Given the description of an element on the screen output the (x, y) to click on. 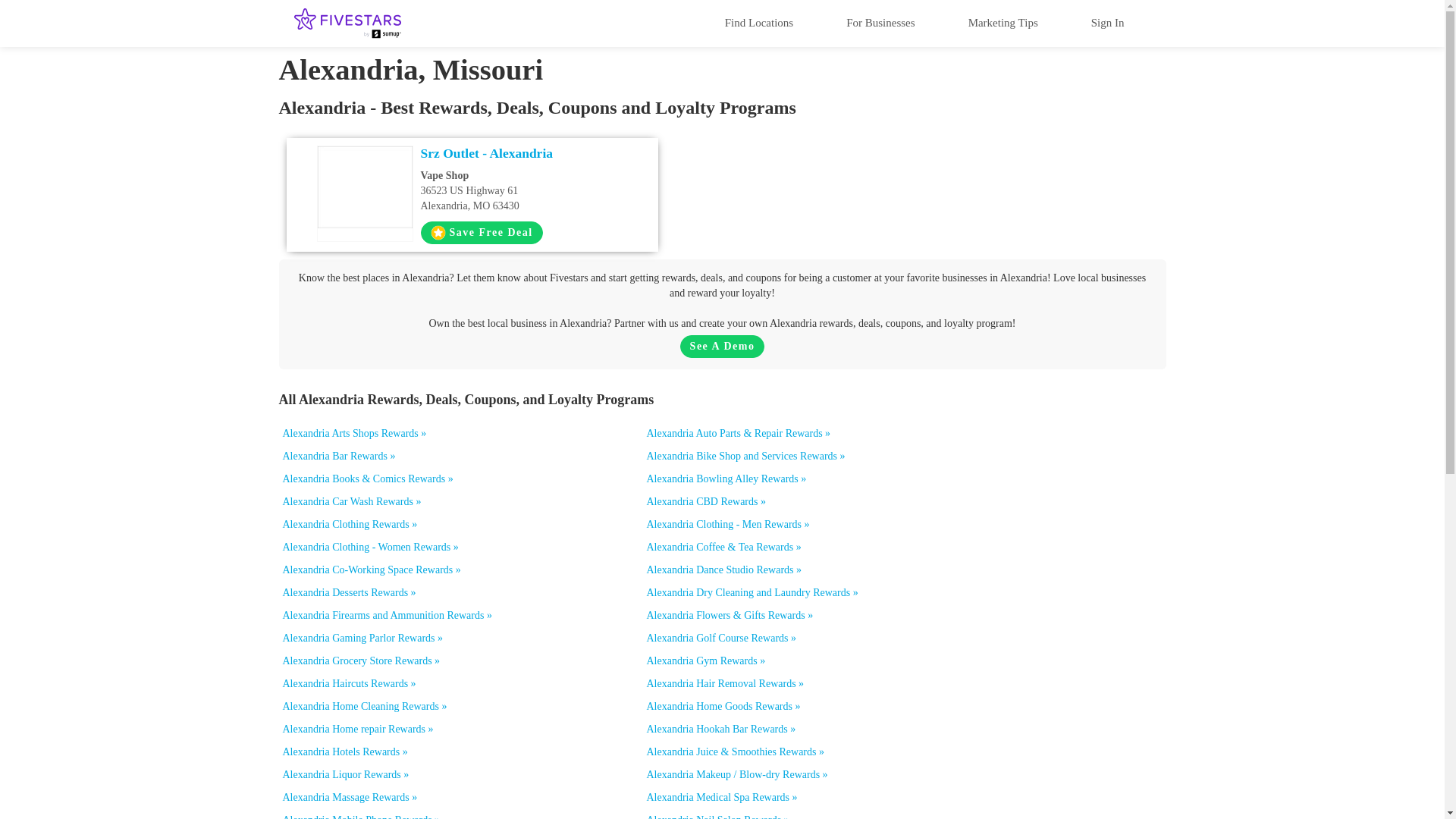
Srz Outlet - Alexandria (522, 152)
Marketing Tips (1002, 22)
For Businesses (880, 22)
See A Demo (722, 345)
Srz Outlet - Alexandria Rewards, Coupons, and Deals (522, 152)
Save Free Deal (480, 232)
Get Srz Outlet - Alexandria Reward (522, 189)
Marketing Tips and Blog (480, 232)
Sign In (1002, 22)
Srz Outlet - Alexandria Logo (1107, 22)
Find Locations (364, 187)
See a Demo and Learn More About Fivestars (759, 22)
